Given the description of an element on the screen output the (x, y) to click on. 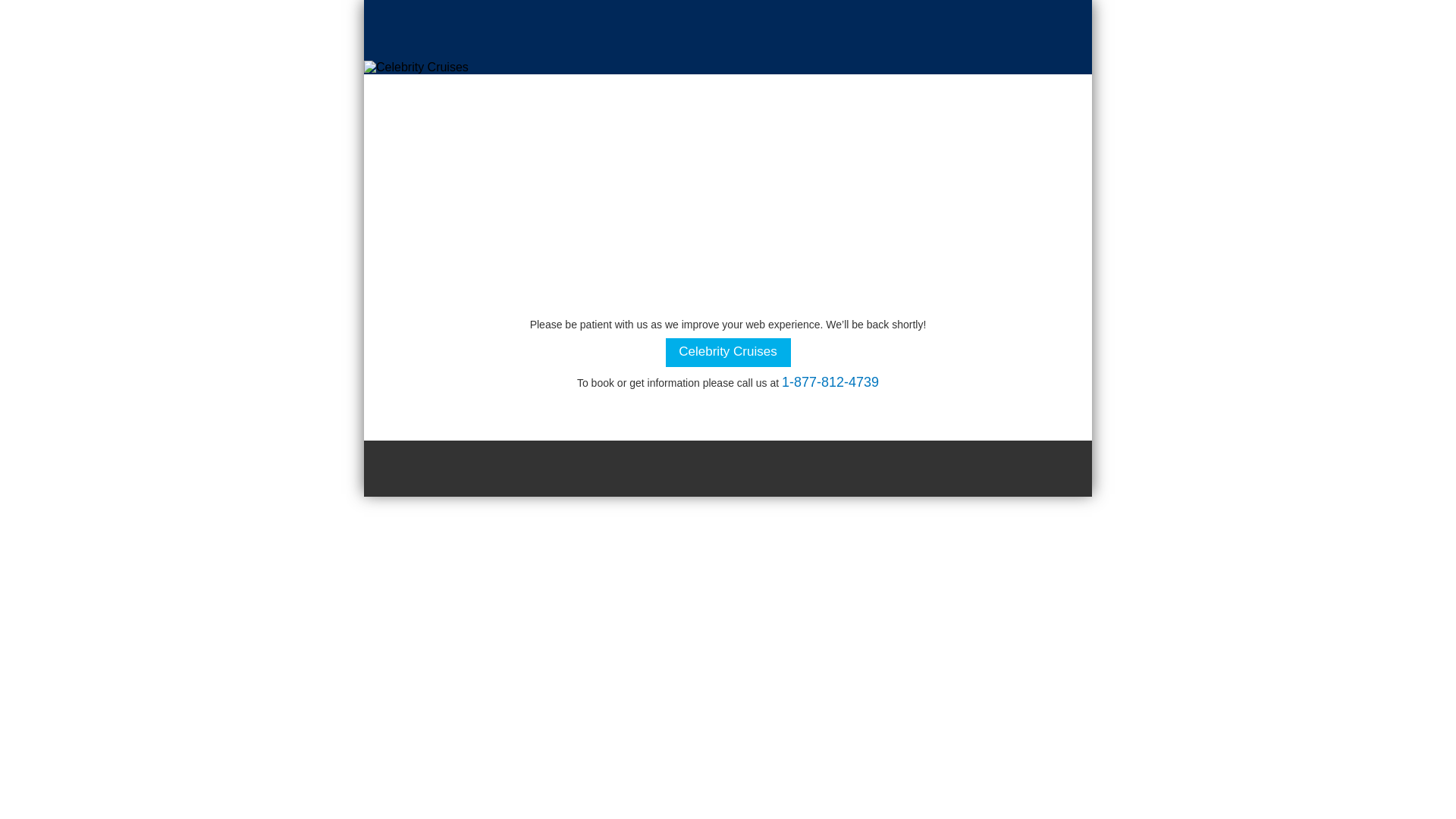
Celebrity Cruises (727, 352)
